Given the description of an element on the screen output the (x, y) to click on. 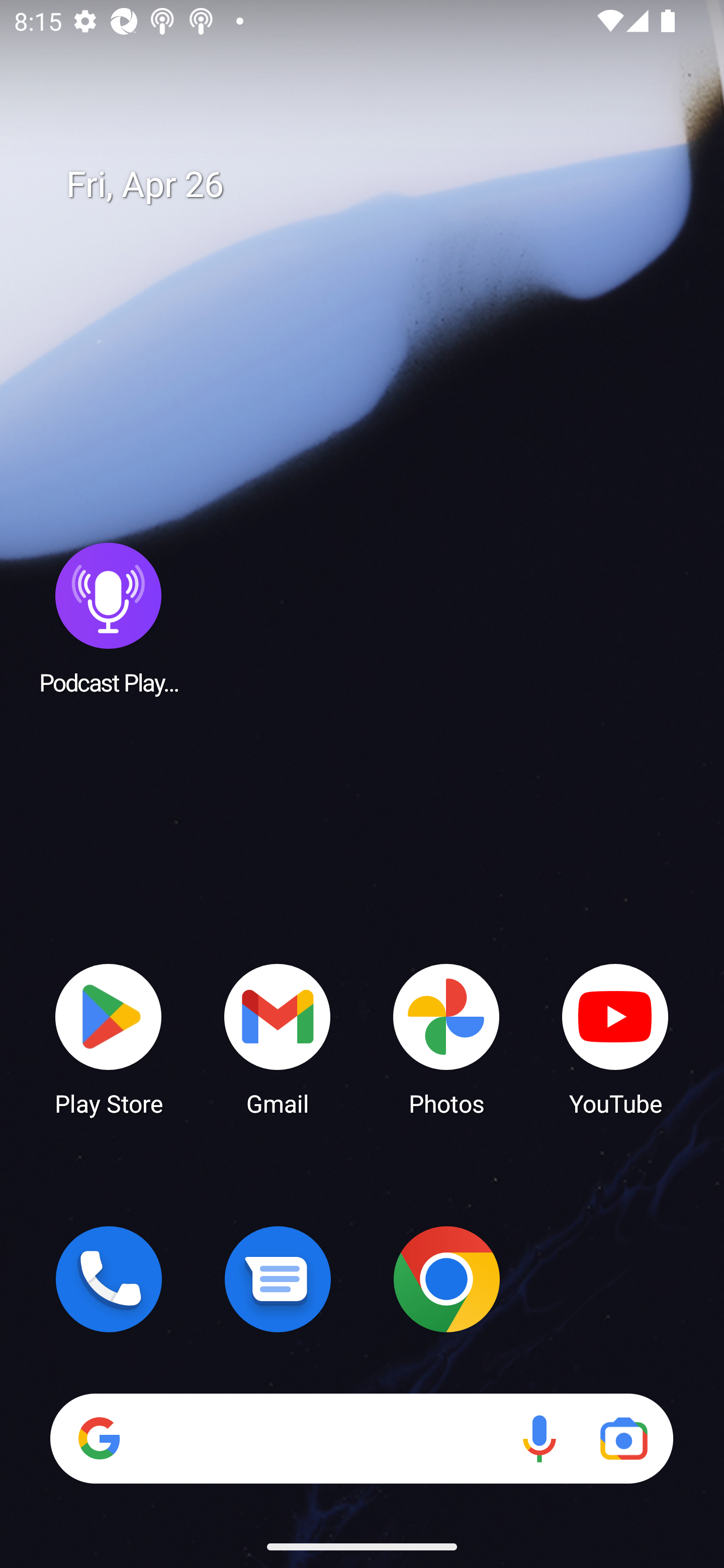
Fri, Apr 26 (375, 184)
Podcast Player (108, 617)
Play Store (108, 1038)
Gmail (277, 1038)
Photos (445, 1038)
YouTube (615, 1038)
Phone (108, 1279)
Messages (277, 1279)
Chrome (446, 1279)
Search Voice search Google Lens (361, 1438)
Voice search (539, 1438)
Google Lens (623, 1438)
